Given the description of an element on the screen output the (x, y) to click on. 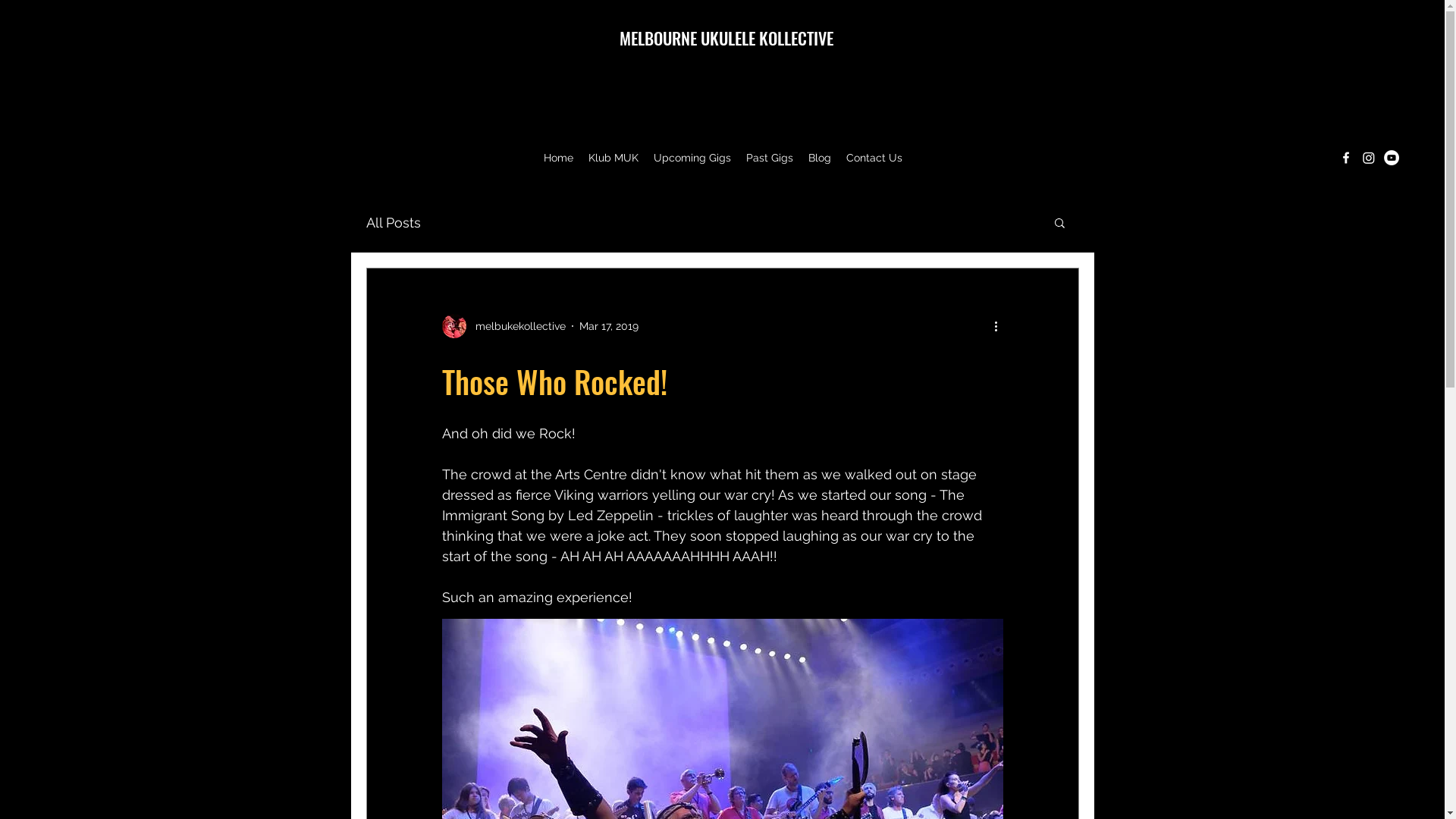
Upcoming Gigs Element type: text (692, 157)
All Posts Element type: text (392, 221)
Klub MUK Element type: text (613, 157)
Contact Us Element type: text (874, 157)
Home Element type: text (558, 157)
Blog Element type: text (819, 157)
MELBOURNE UKULELE KOLLECTIVE Element type: text (726, 37)
melbukekollective Element type: text (502, 325)
Past Gigs Element type: text (769, 157)
